Given the description of an element on the screen output the (x, y) to click on. 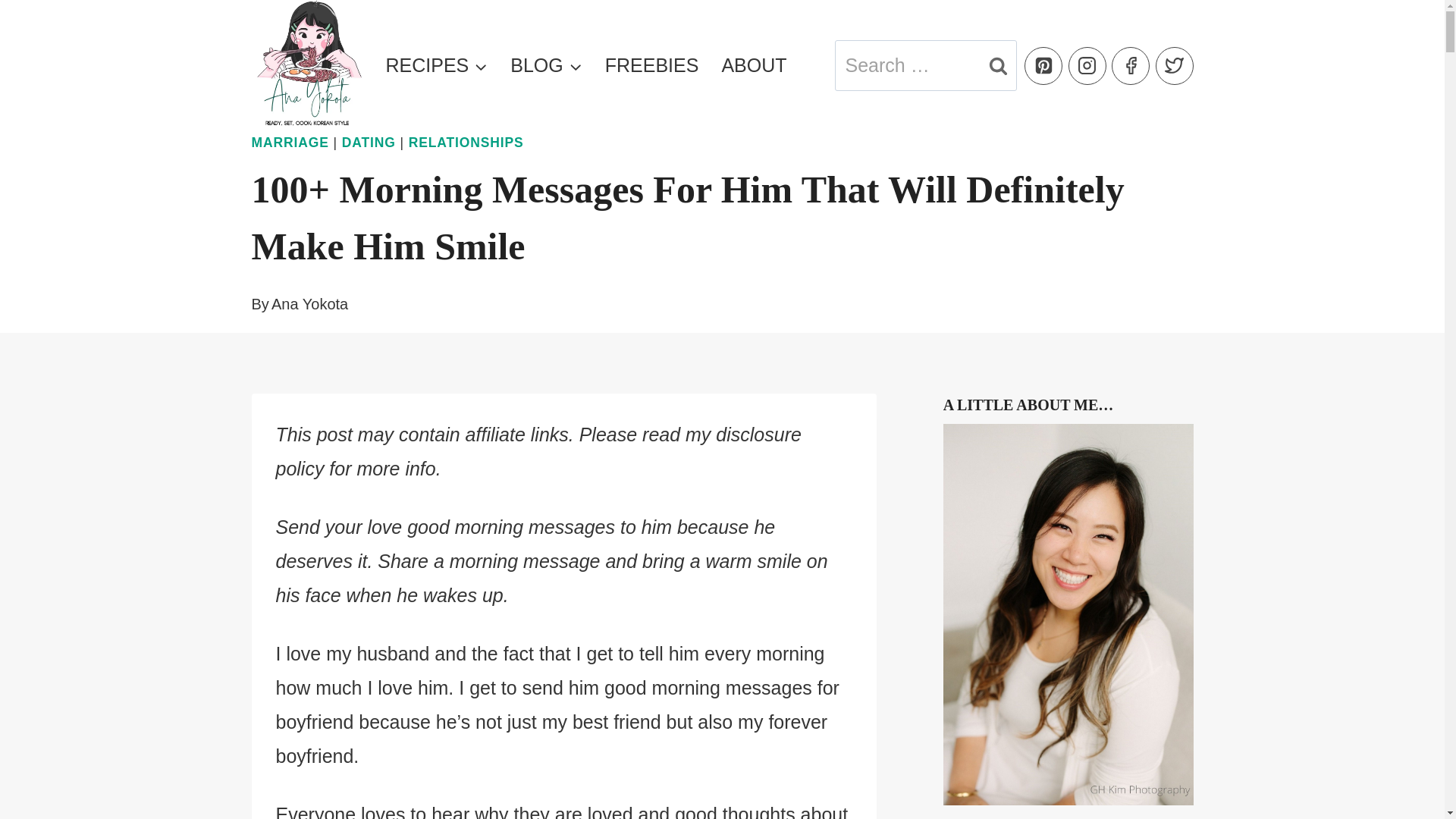
MARRIAGE (290, 142)
RELATIONSHIPS (466, 142)
ABOUT (753, 65)
Ana Yokota (308, 303)
FREEBIES (652, 65)
DATING (369, 142)
RECIPES (436, 65)
BLOG (545, 65)
